Given the description of an element on the screen output the (x, y) to click on. 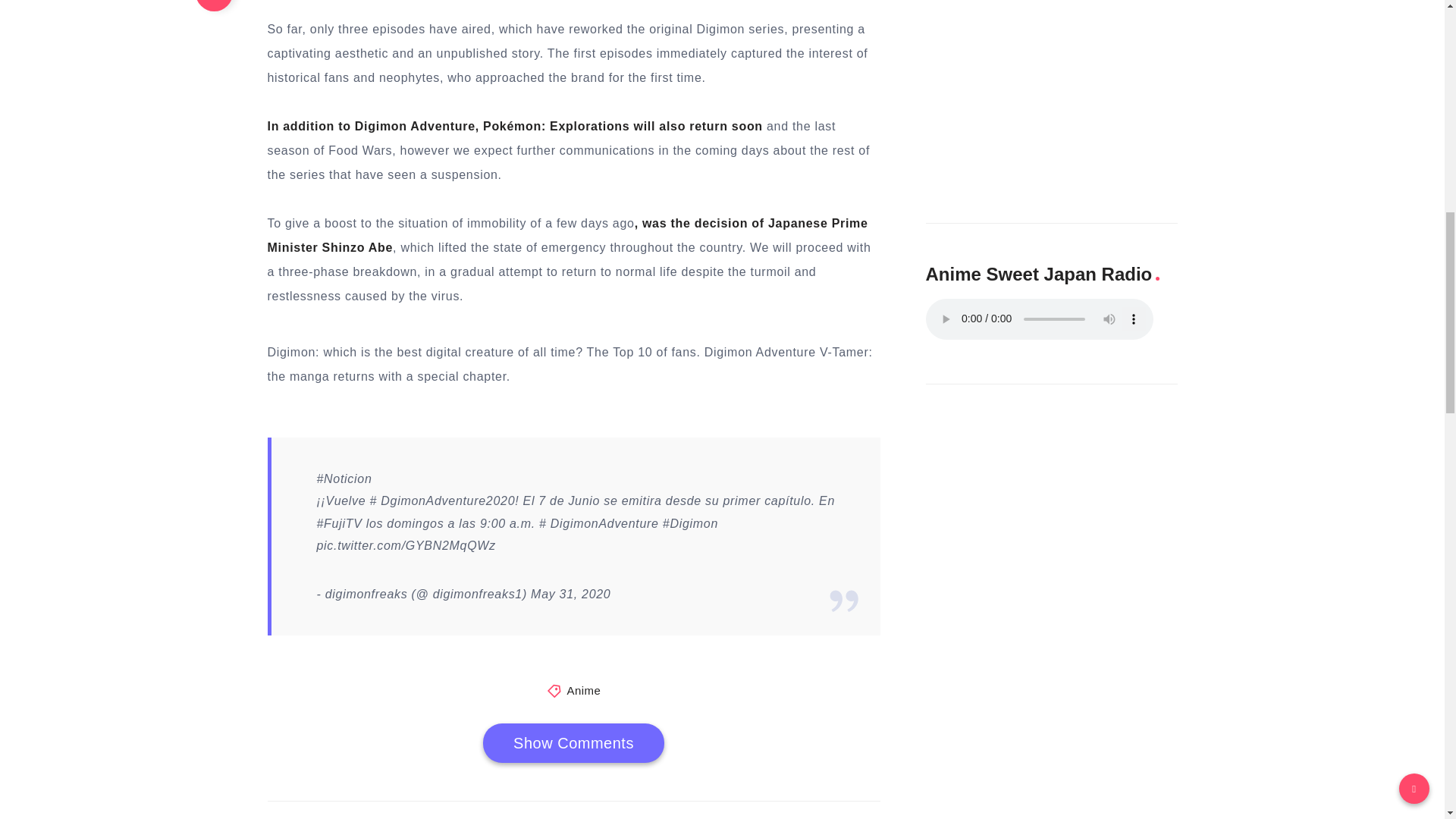
Show Comments (573, 742)
Anime (582, 689)
